Given the description of an element on the screen output the (x, y) to click on. 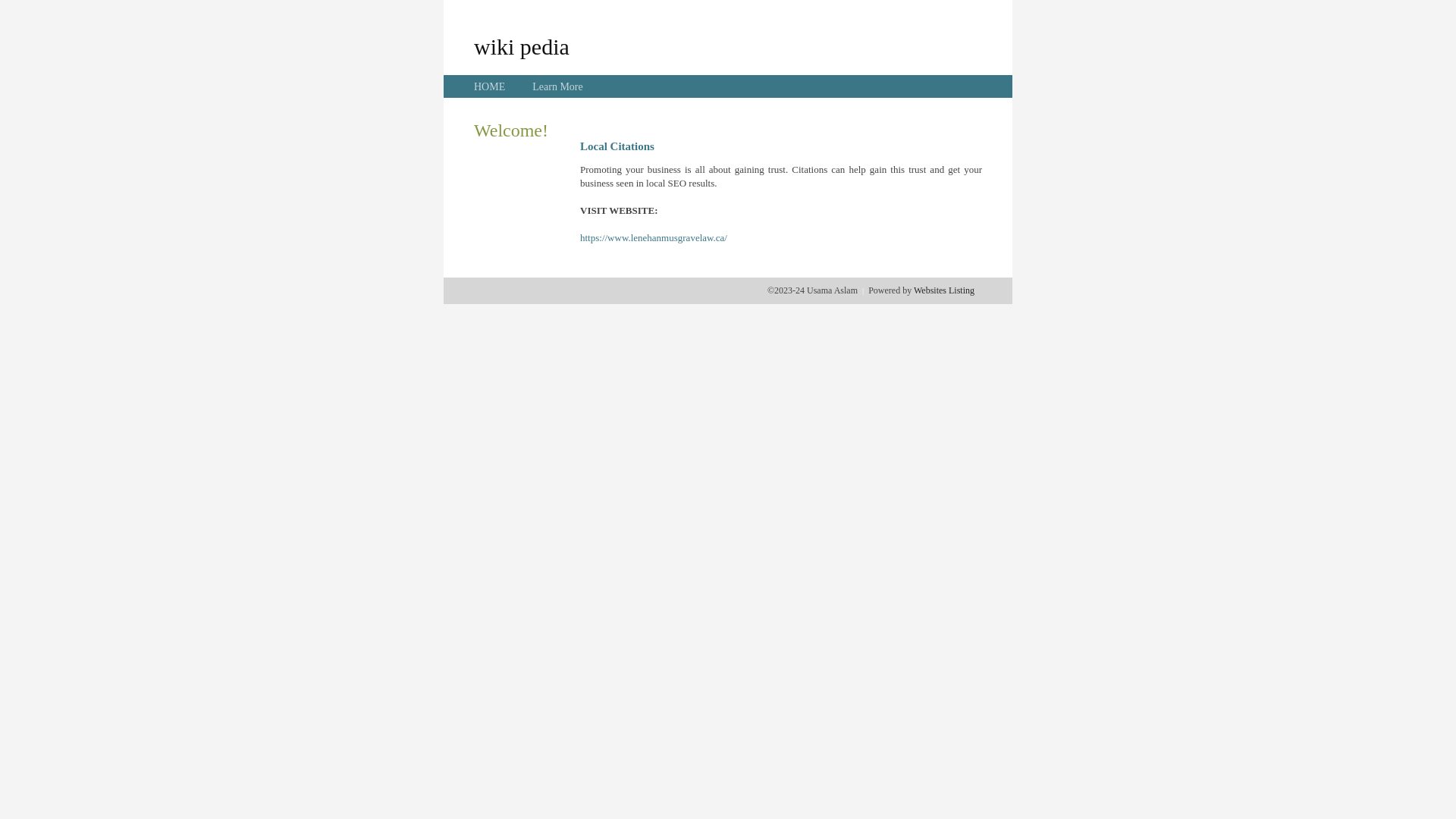
https://www.lenehanmusgravelaw.ca/ Element type: text (653, 237)
Websites Listing Element type: text (943, 290)
wiki pedia Element type: text (521, 46)
Learn More Element type: text (557, 86)
HOME Element type: text (489, 86)
